Given the description of an element on the screen output the (x, y) to click on. 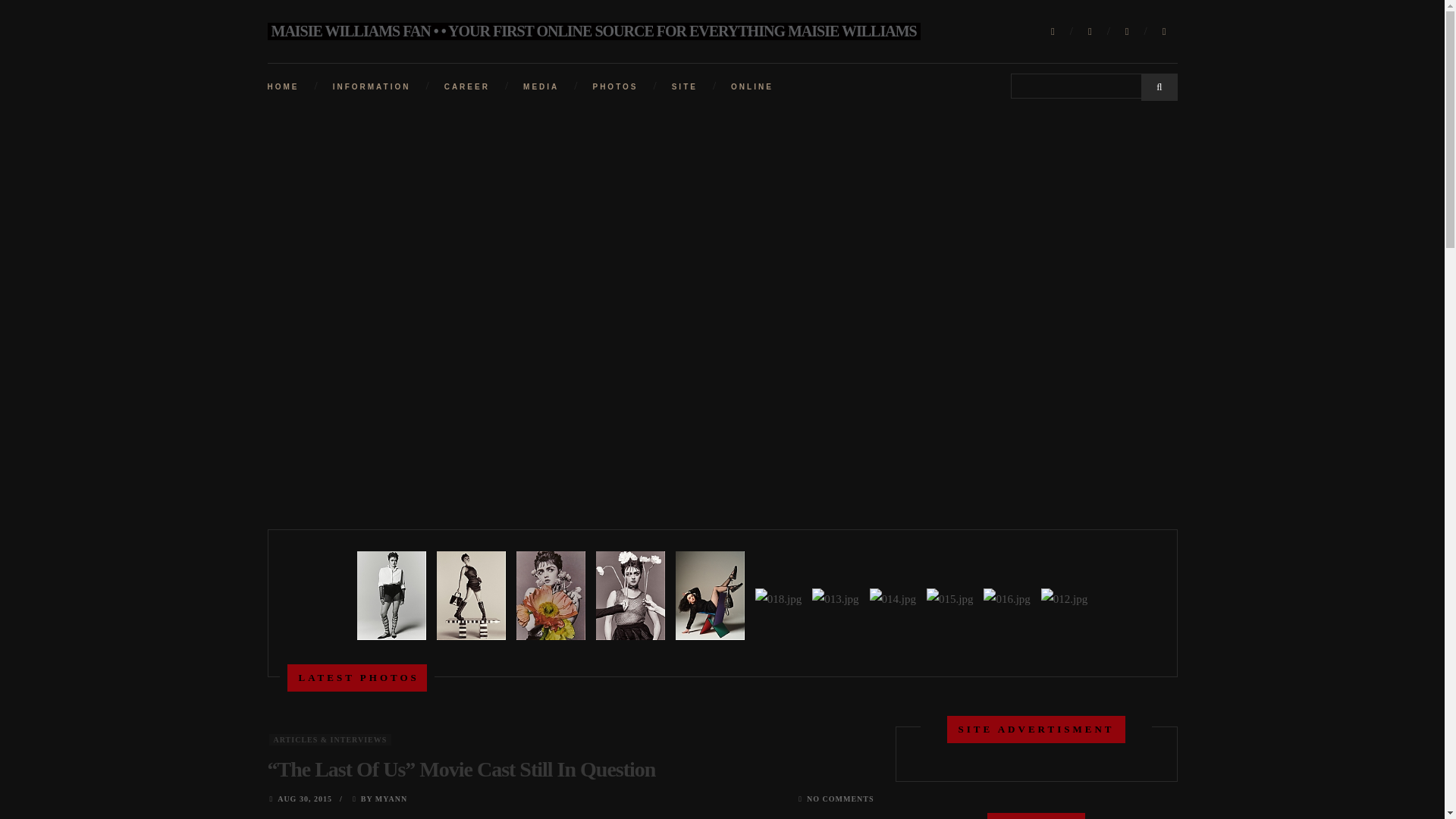
NO COMMENTS (840, 798)
SITE (684, 86)
013.jpg (834, 599)
CAREER (466, 86)
MEDIA (540, 86)
016.jpg (1006, 599)
INFORMATION (371, 86)
HOME (282, 86)
ONLINE (751, 86)
018.jpg (778, 599)
